Given the description of an element on the screen output the (x, y) to click on. 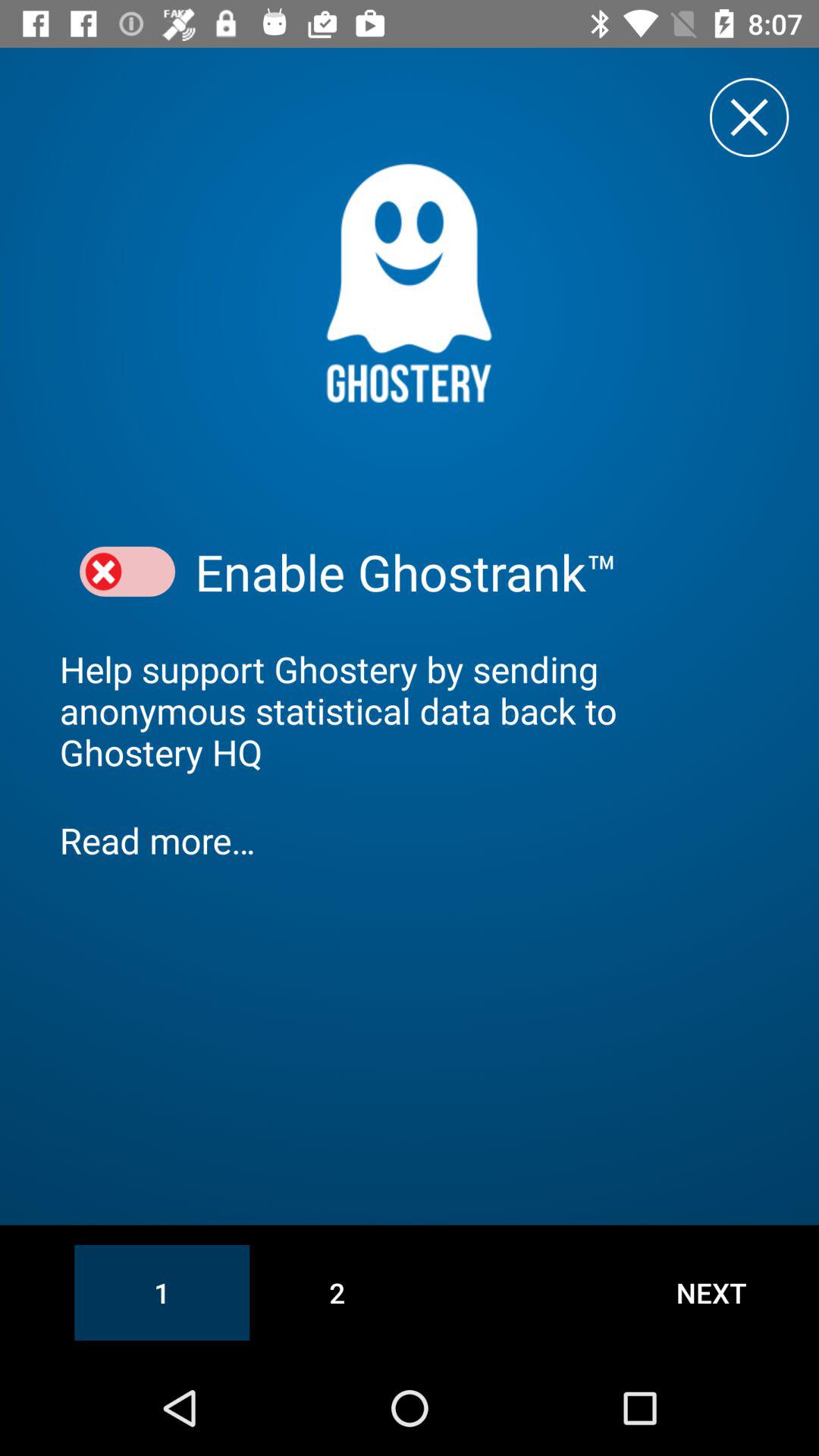
exit (749, 117)
